Given the description of an element on the screen output the (x, y) to click on. 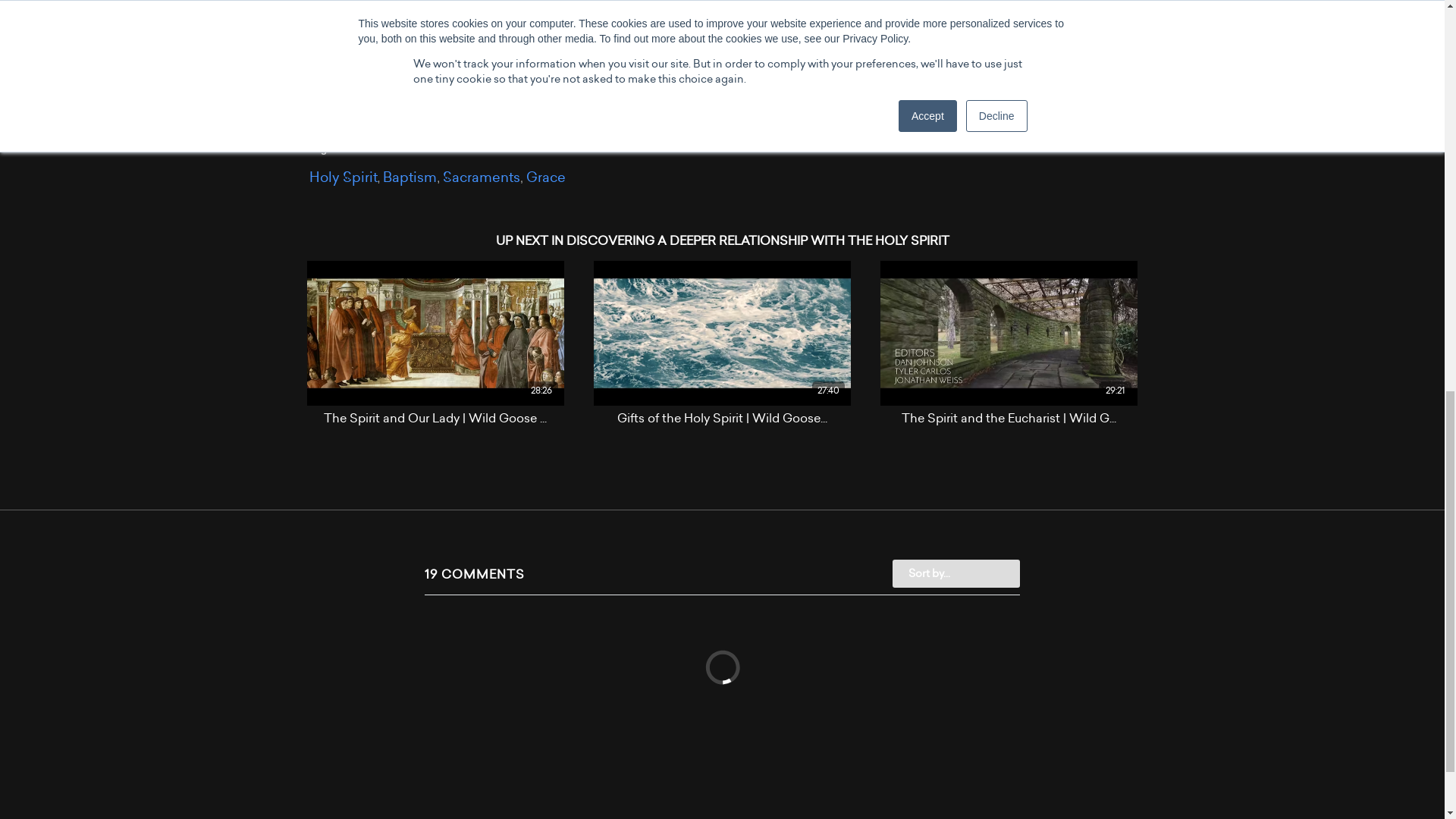
View Latest Comments (348, 2)
